Given the description of an element on the screen output the (x, y) to click on. 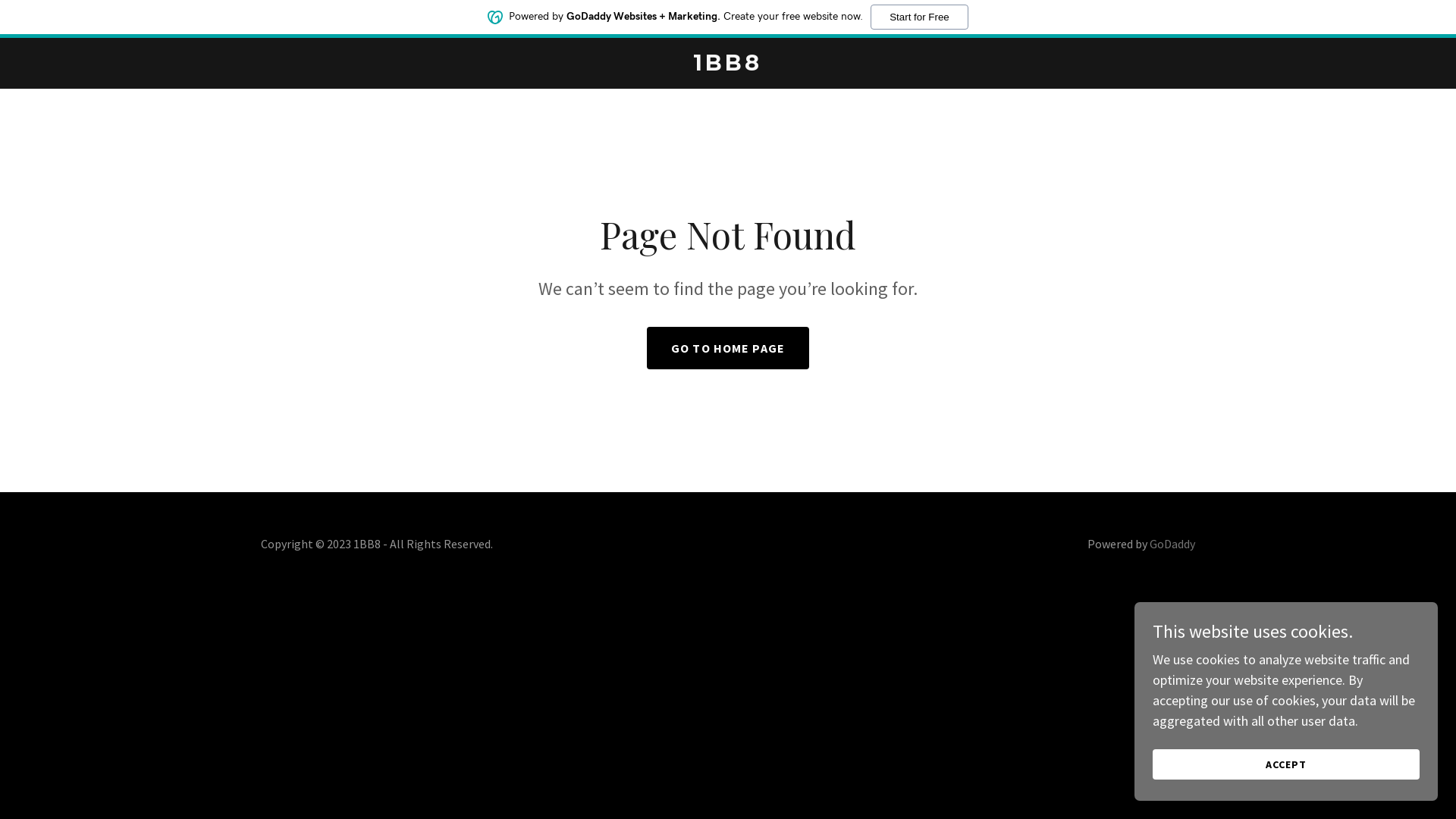
GO TO HOME PAGE Element type: text (727, 347)
GoDaddy Element type: text (1172, 543)
ACCEPT Element type: text (1285, 764)
1BB8 Element type: text (727, 65)
Start for Free Element type: text (919, 16)
